Given the description of an element on the screen output the (x, y) to click on. 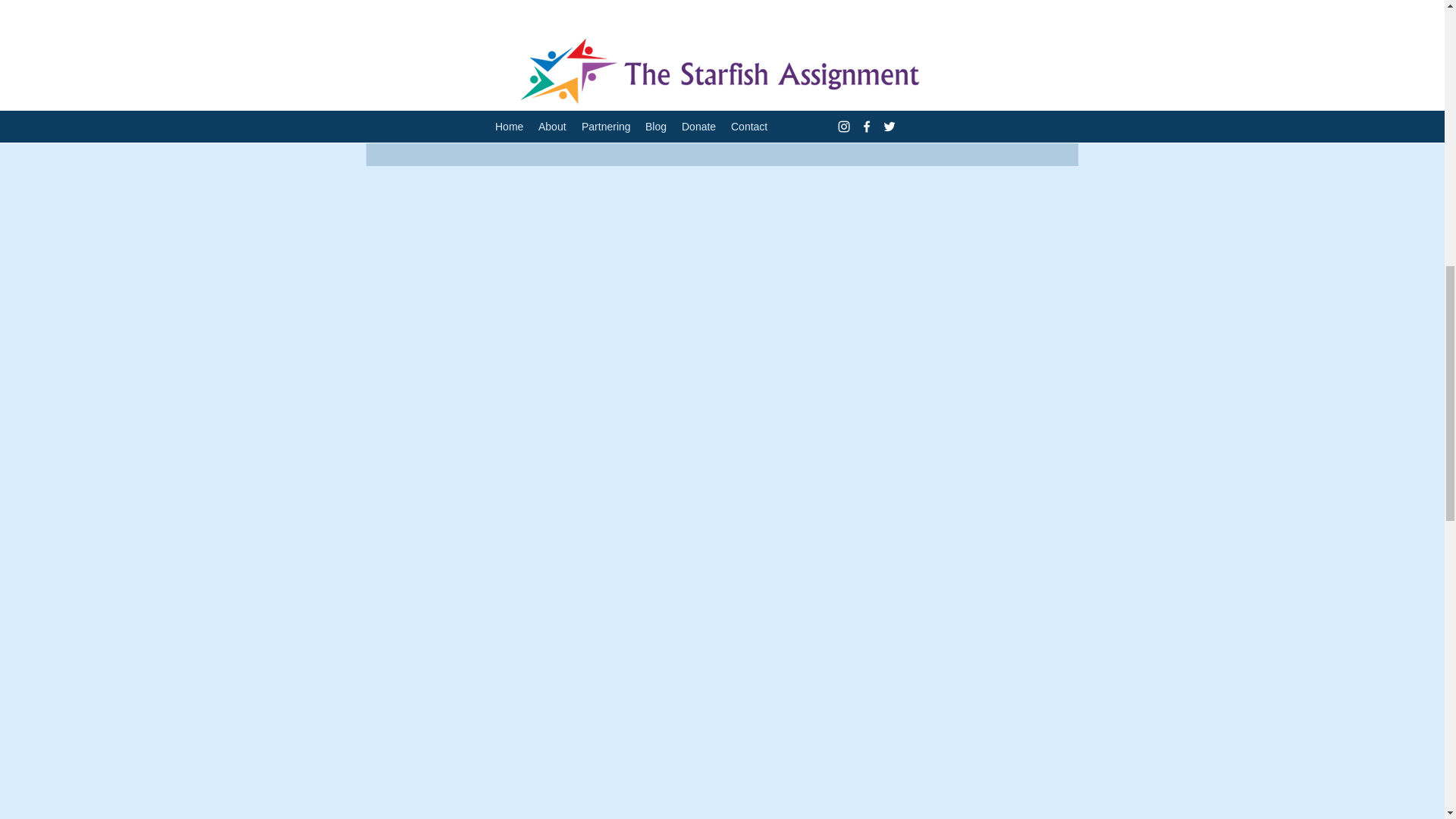
Post not marked as liked (995, 97)
